Given the description of an element on the screen output the (x, y) to click on. 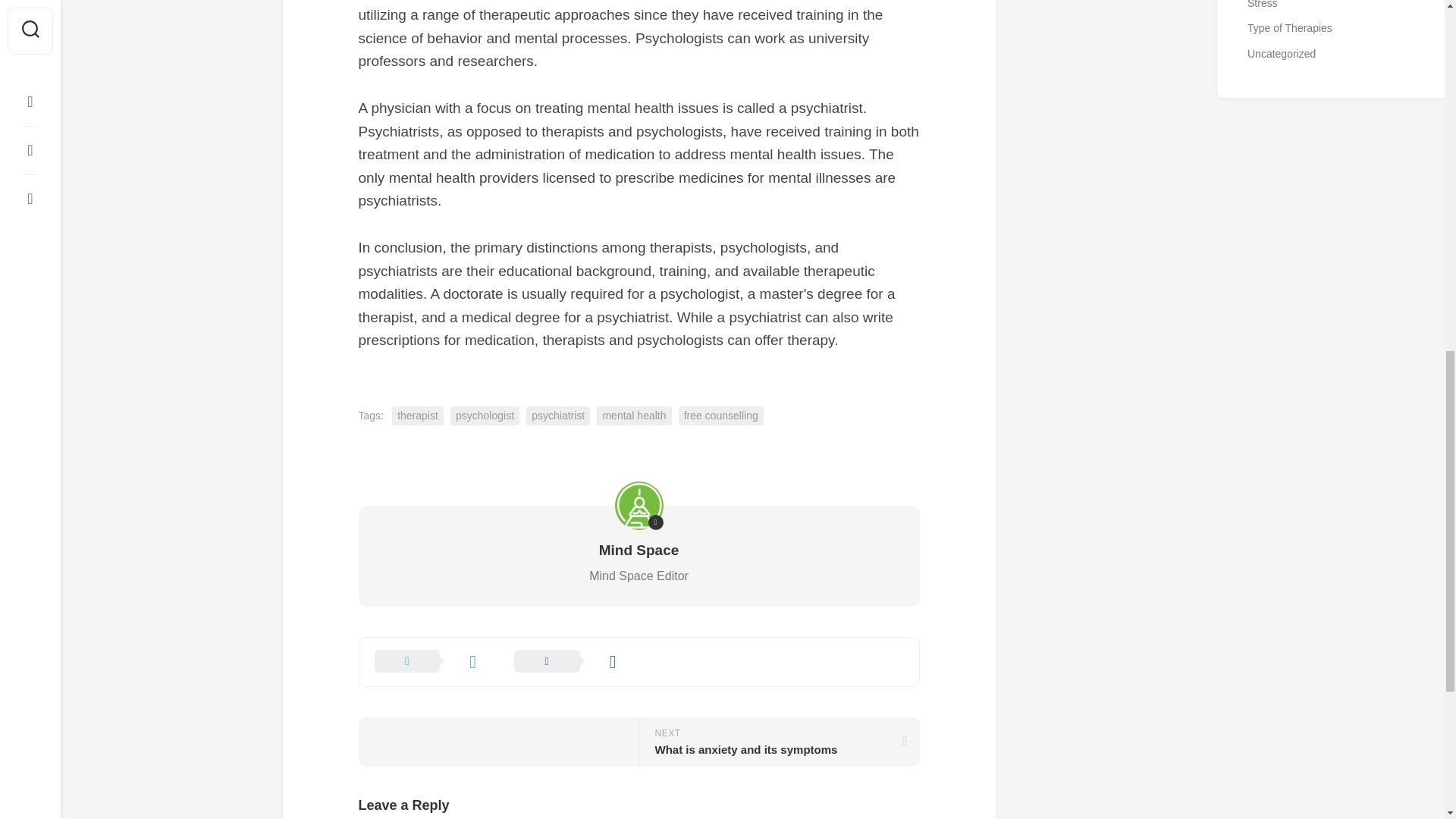
psychologist (484, 415)
free counselling (720, 415)
therapist (417, 415)
mental health (778, 741)
psychiatrist (633, 415)
